Given the description of an element on the screen output the (x, y) to click on. 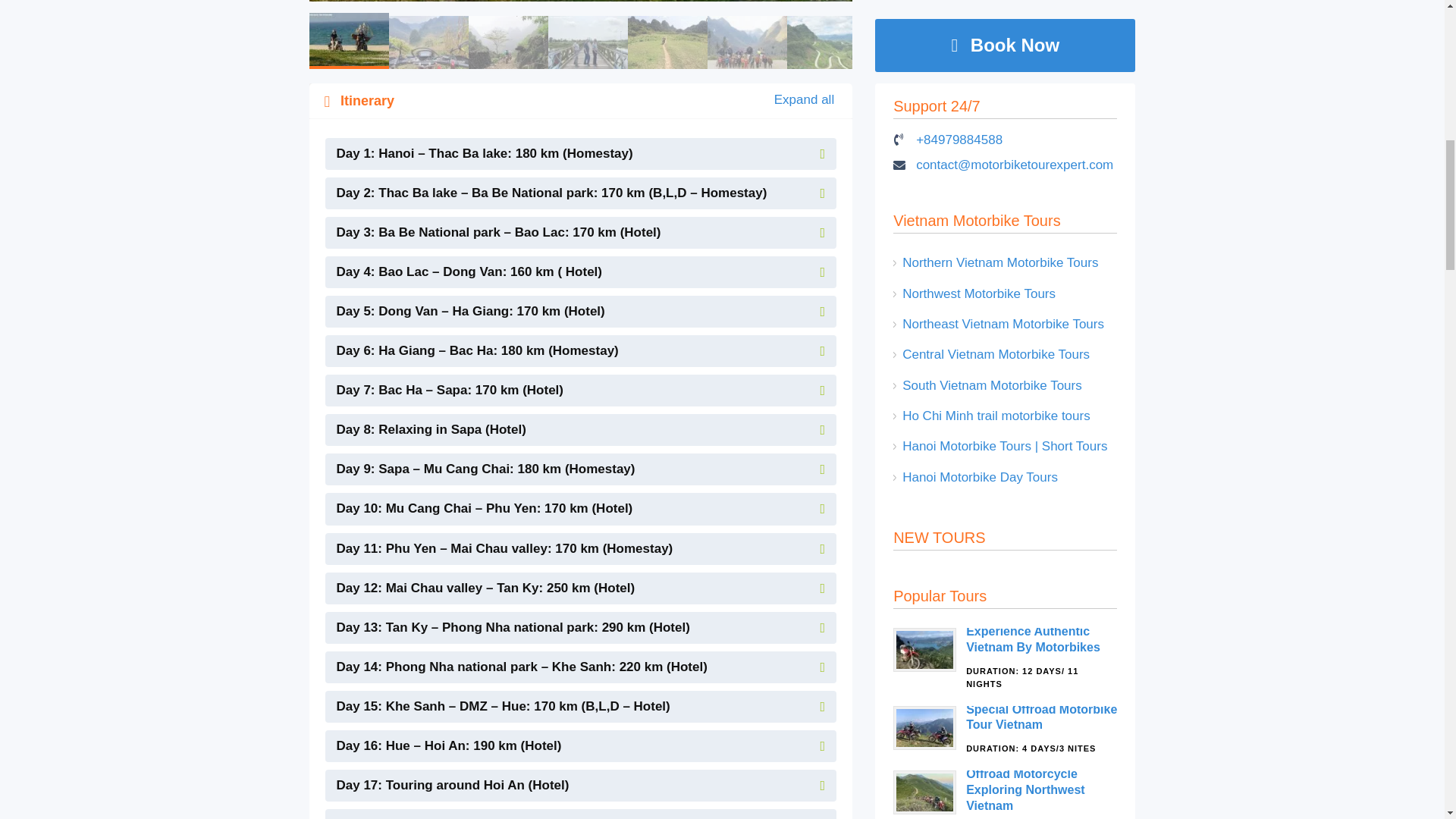
Email Support (1014, 164)
Phone Support (959, 139)
